Given the description of an element on the screen output the (x, y) to click on. 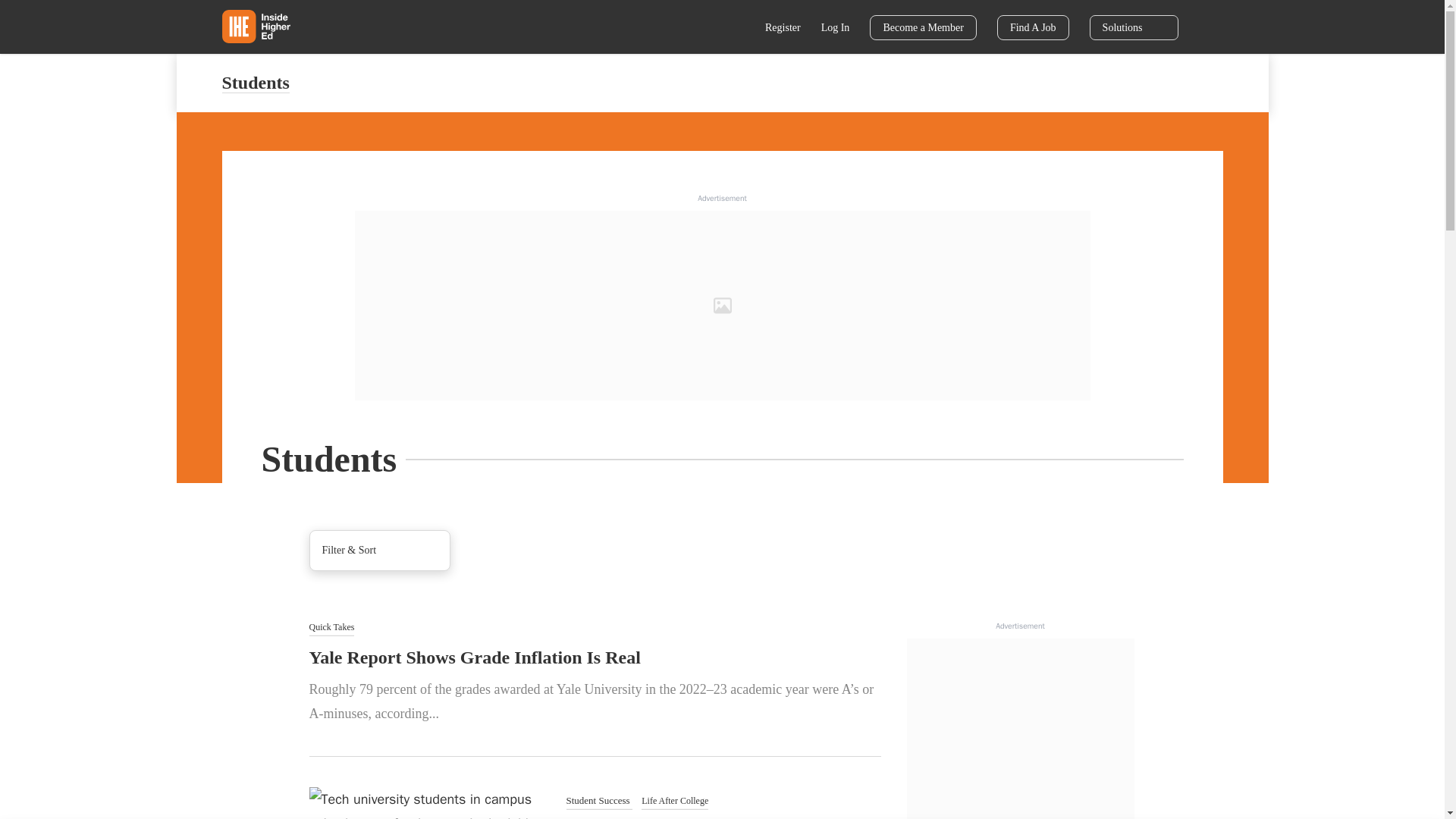
Become a Member (922, 27)
Search (736, 28)
Home (255, 26)
Find A Job (1032, 27)
